Given the description of an element on the screen output the (x, y) to click on. 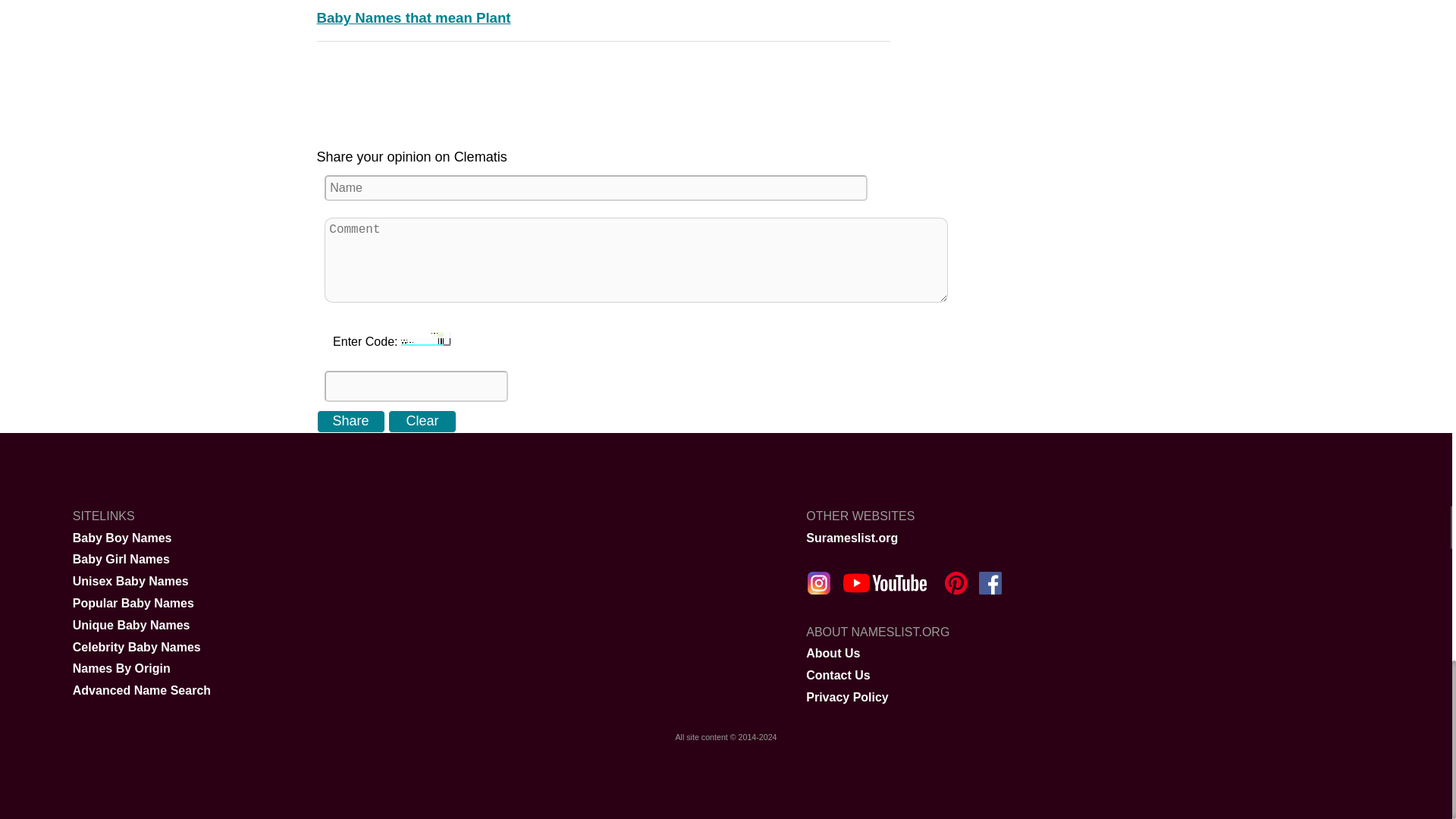
Share (351, 421)
Clear (422, 421)
